Given the description of an element on the screen output the (x, y) to click on. 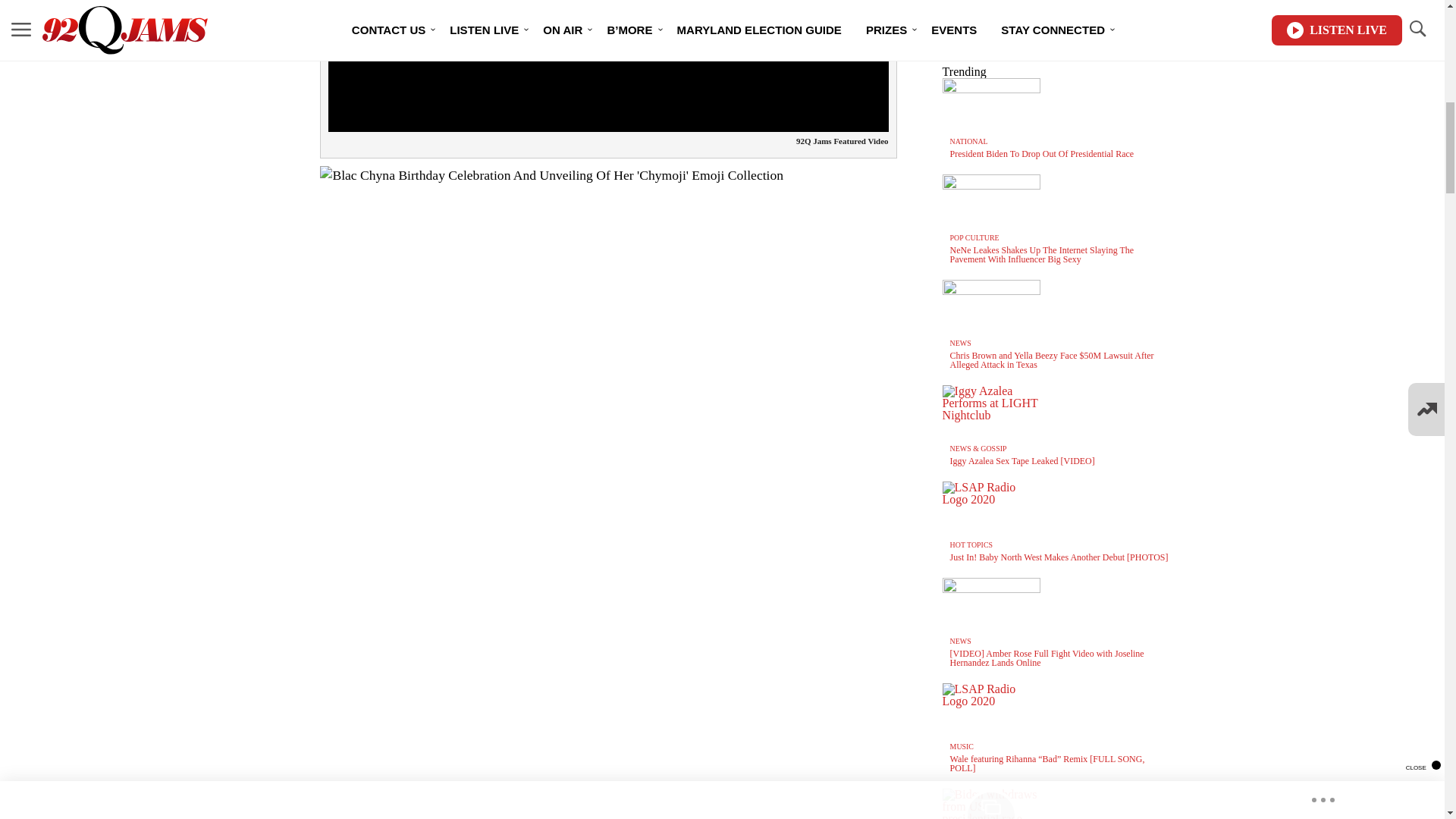
Media Playlist (990, 804)
